Given the description of an element on the screen output the (x, y) to click on. 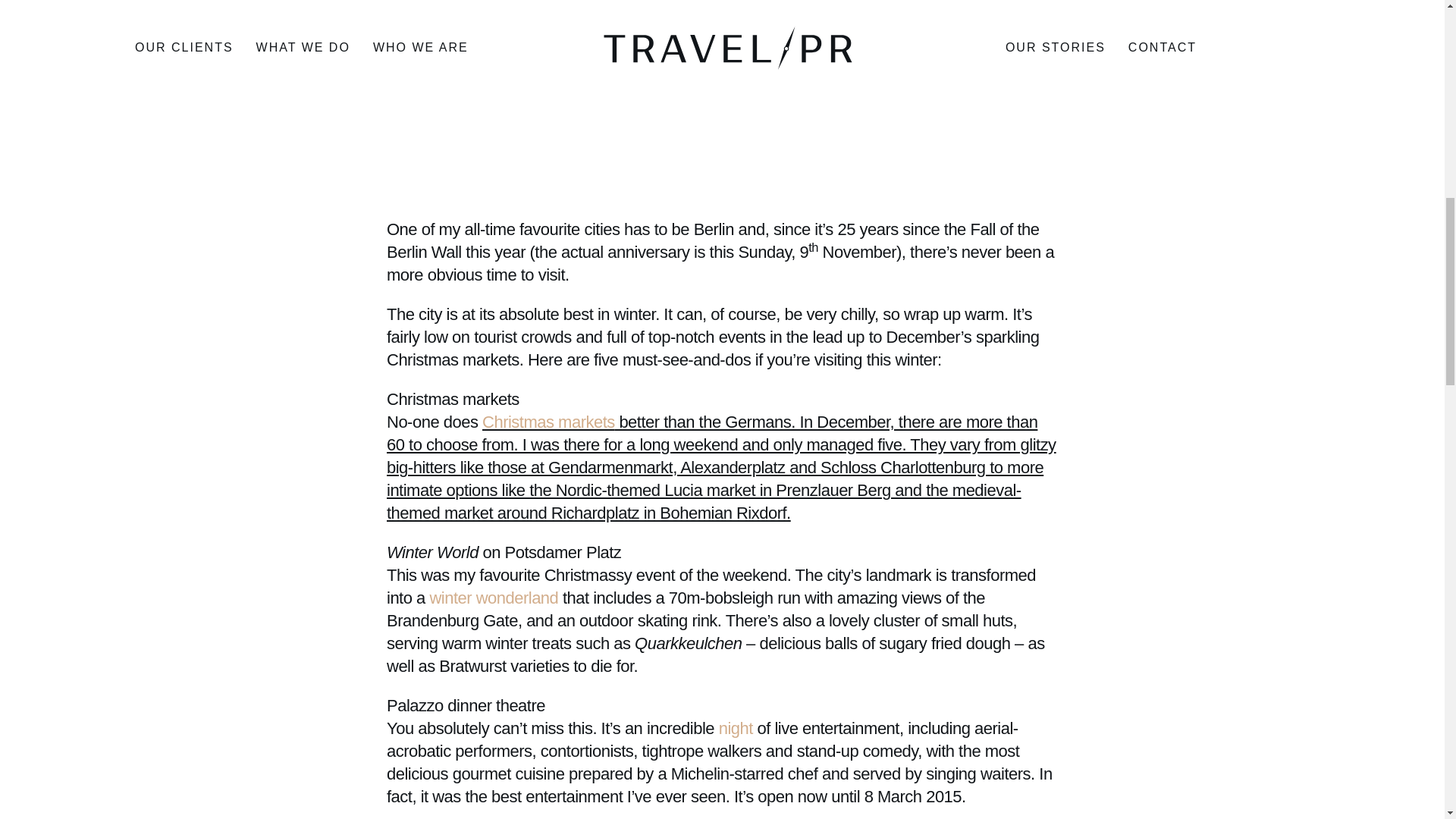
winter wonderland (493, 597)
night (735, 728)
Christmas markets (547, 421)
